Given the description of an element on the screen output the (x, y) to click on. 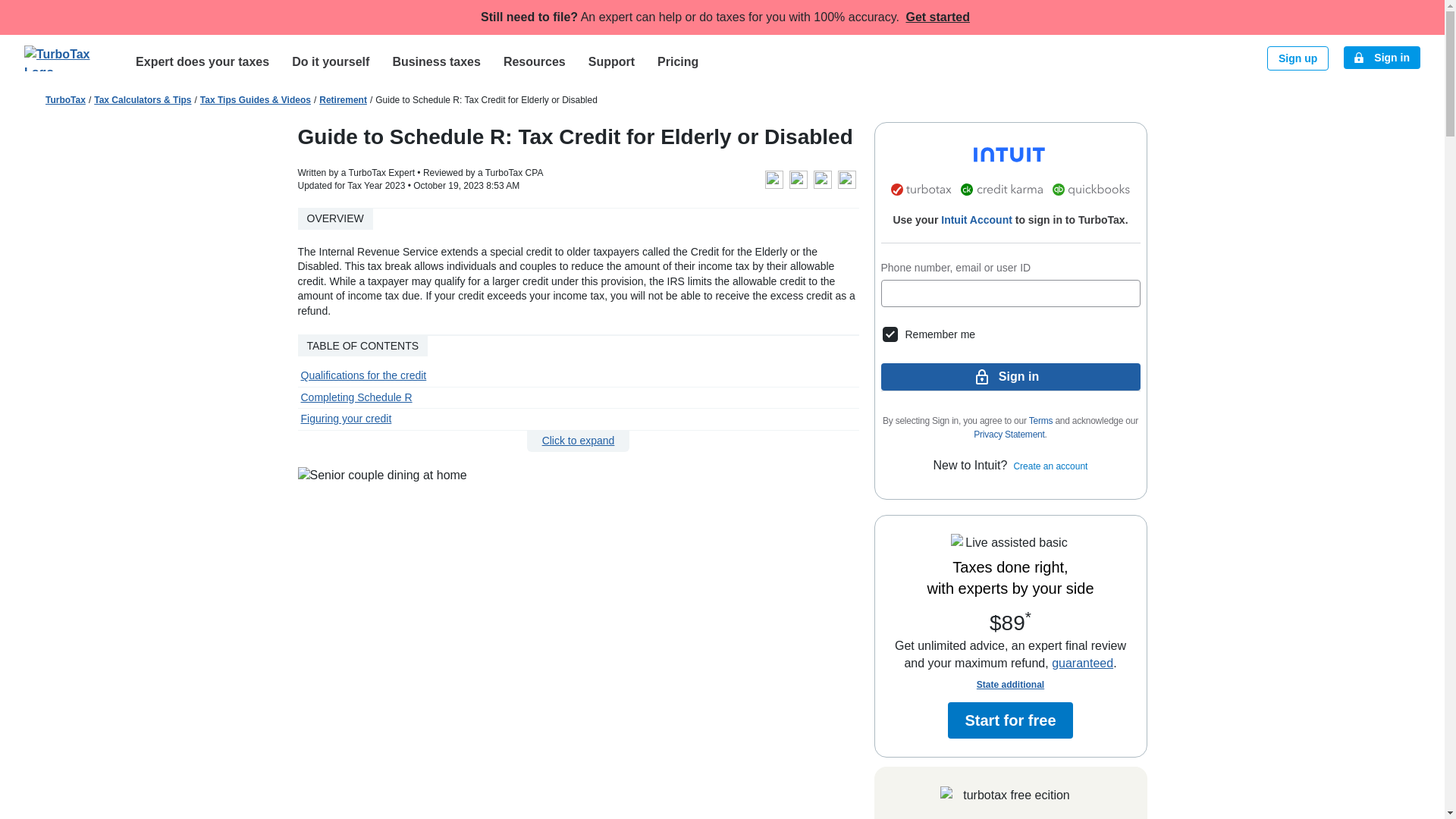
Share this article on X (821, 179)
Do it yourself (330, 60)
Business taxes (436, 60)
Share this article on Facebook (797, 179)
Copy link to this article (773, 179)
Share this article on LinkedIn (846, 179)
Expert does your taxes (202, 60)
Resources (534, 60)
